Given the description of an element on the screen output the (x, y) to click on. 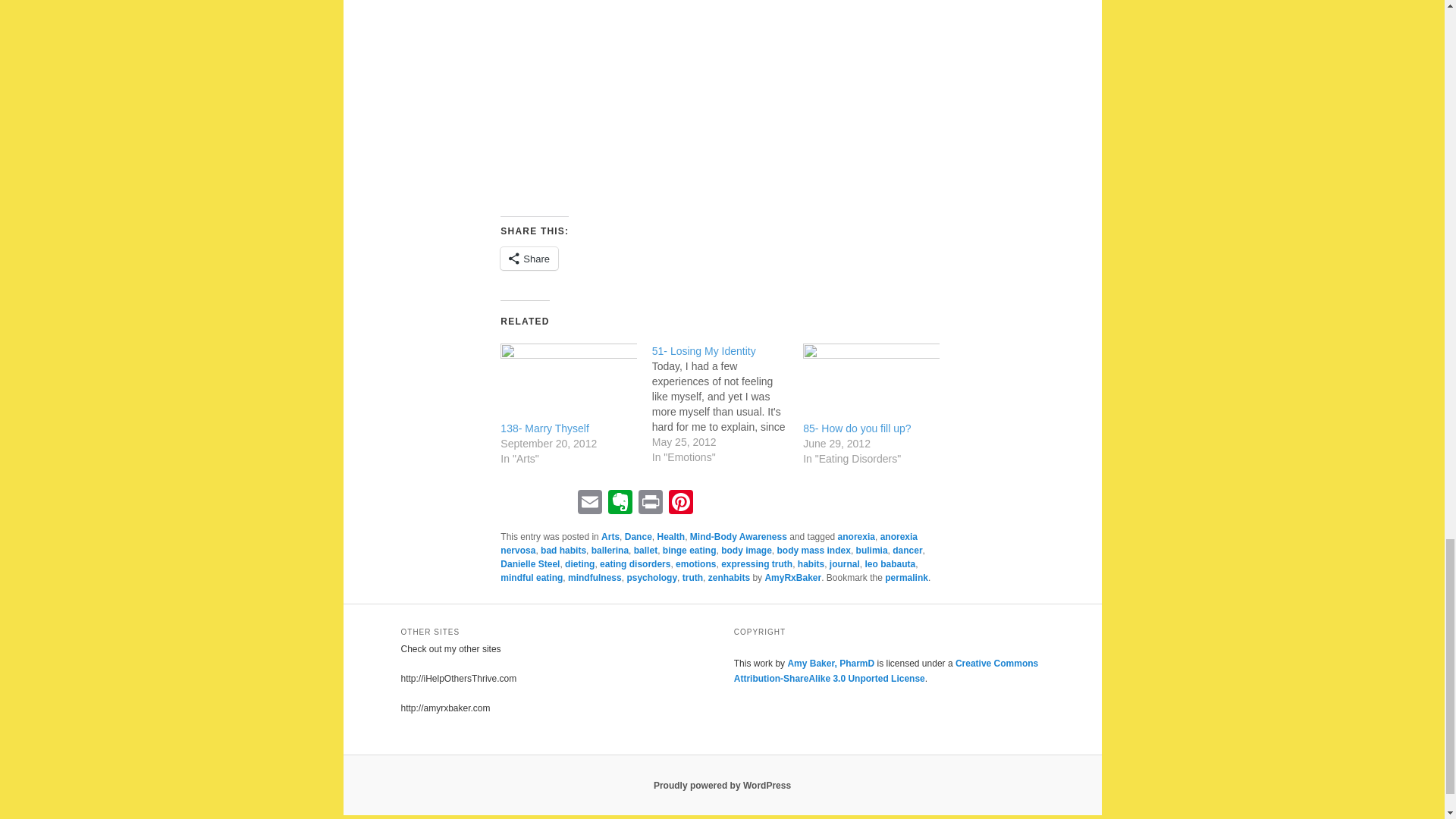
Dance (638, 536)
138- Marry Thyself (568, 382)
Evernote (619, 503)
Email (590, 503)
Print (649, 503)
85- How do you fill up? (857, 428)
85- How do you fill up? (857, 428)
51- Losing My Identity (727, 404)
Pinterest (680, 503)
138- Marry Thyself (544, 428)
